Given the description of an element on the screen output the (x, y) to click on. 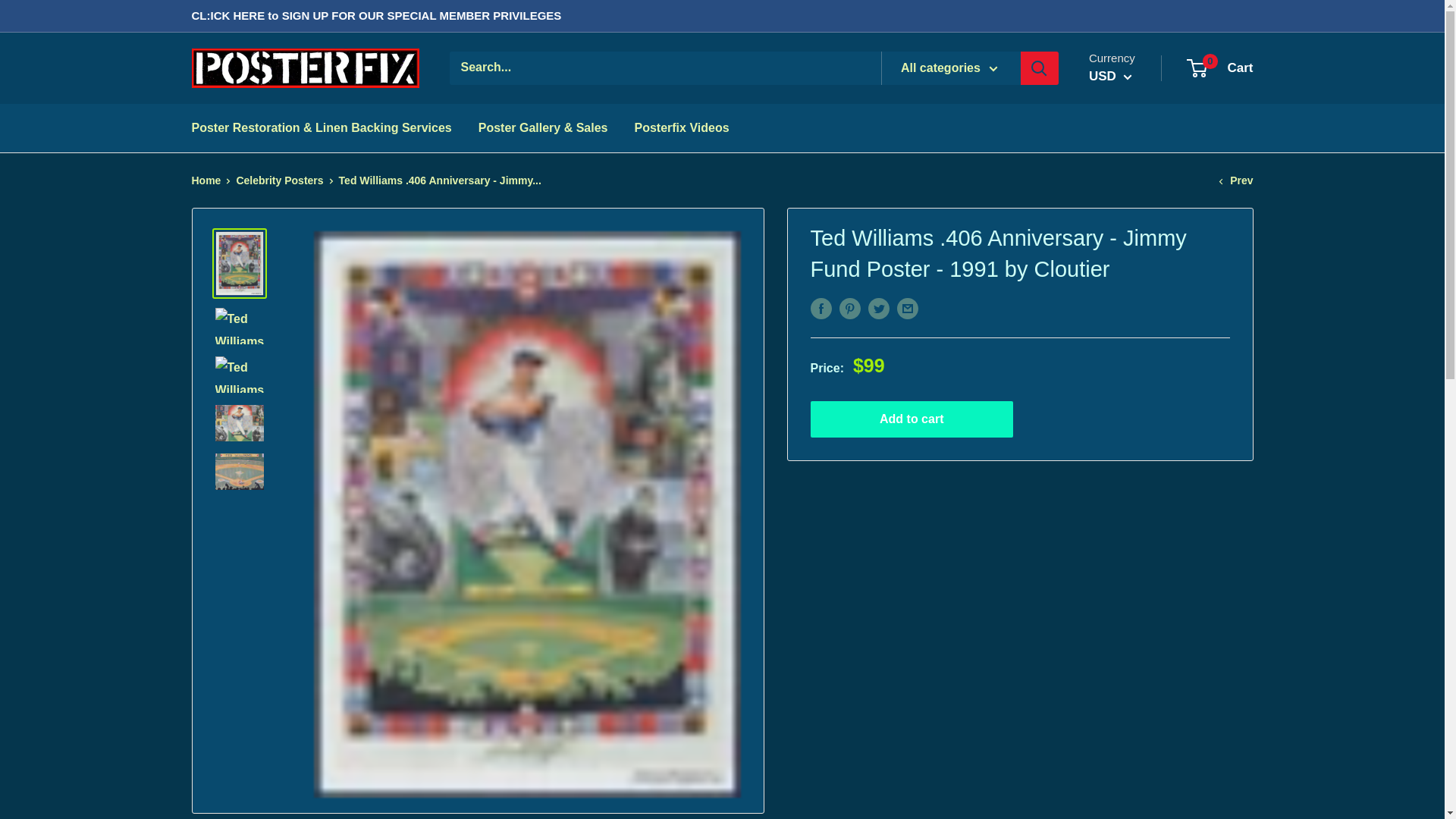
USD (1110, 76)
Posterfix Videos (681, 128)
CL:ICK HERE to SIGN UP FOR OUR SPECIAL MEMBER PRIVILEGES (375, 15)
Prev (1235, 180)
Home (205, 180)
Add to cart (911, 419)
Celebrity Posters (1220, 68)
